Given the description of an element on the screen output the (x, y) to click on. 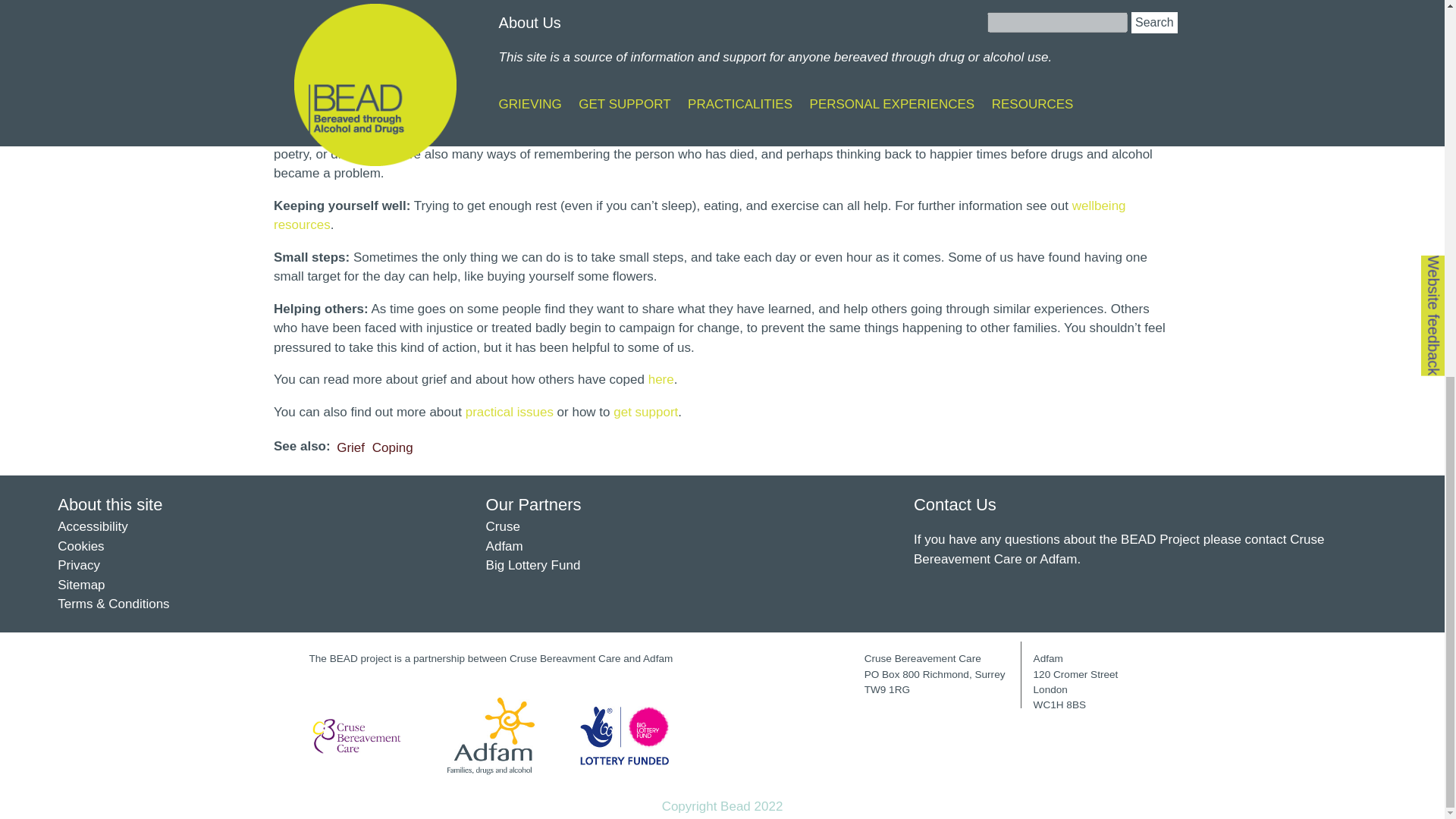
Cruse (502, 526)
Adfam (1058, 559)
Cruse Bereavement Care (1119, 549)
Grief (350, 447)
Privacy (79, 564)
wellbeing resources (699, 215)
here (660, 379)
Cookies (80, 545)
Coping (392, 447)
practical issues (509, 411)
Adfam (504, 545)
Big Lottery Fund (533, 564)
Sitemap (81, 585)
get support (645, 411)
Accessibility (93, 526)
